Given the description of an element on the screen output the (x, y) to click on. 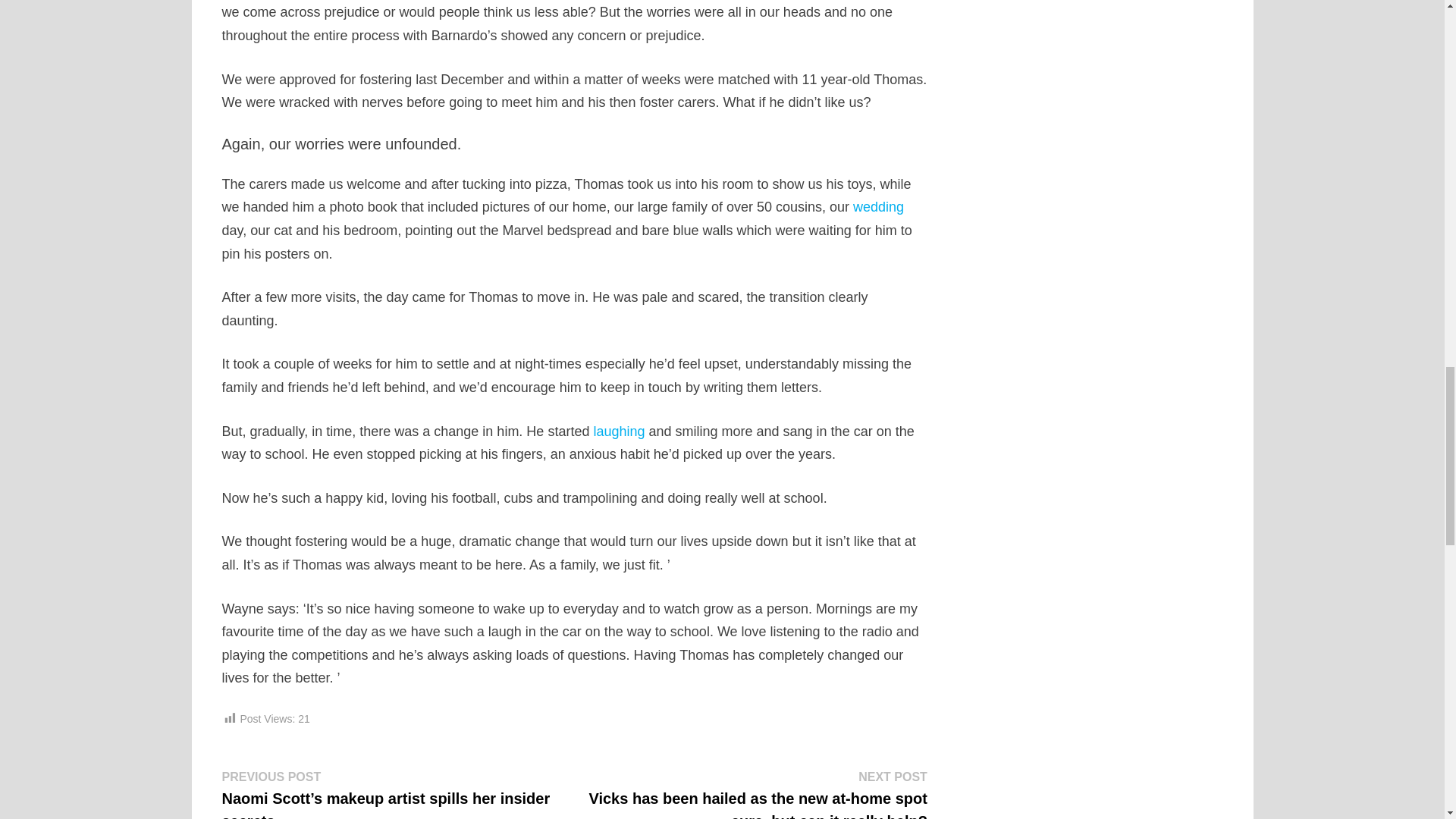
wedding (878, 206)
laughing (618, 431)
